Given the description of an element on the screen output the (x, y) to click on. 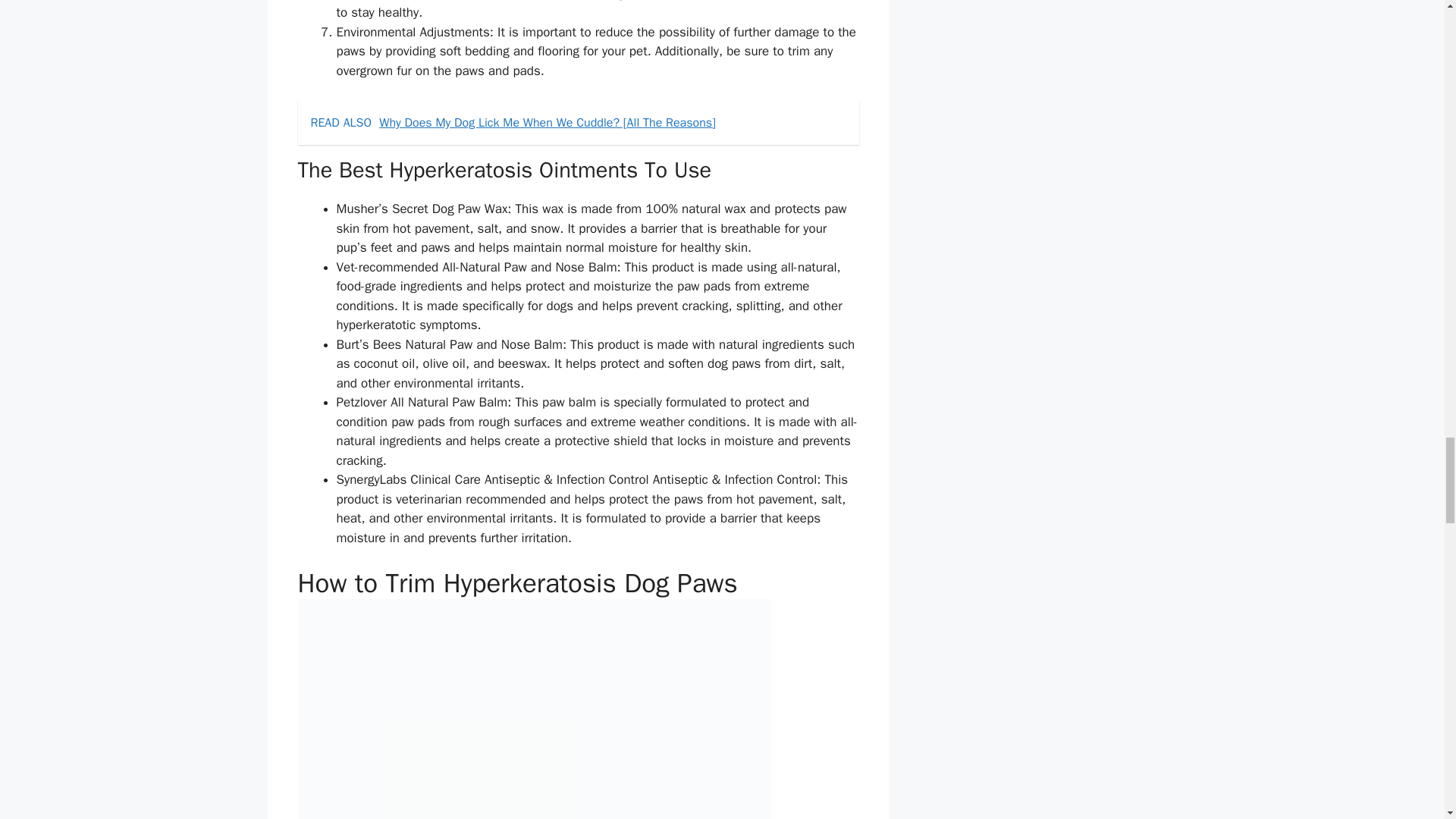
Hyperkeratosis Dog Paw: All You Need To Know 6 (533, 708)
